Given the description of an element on the screen output the (x, y) to click on. 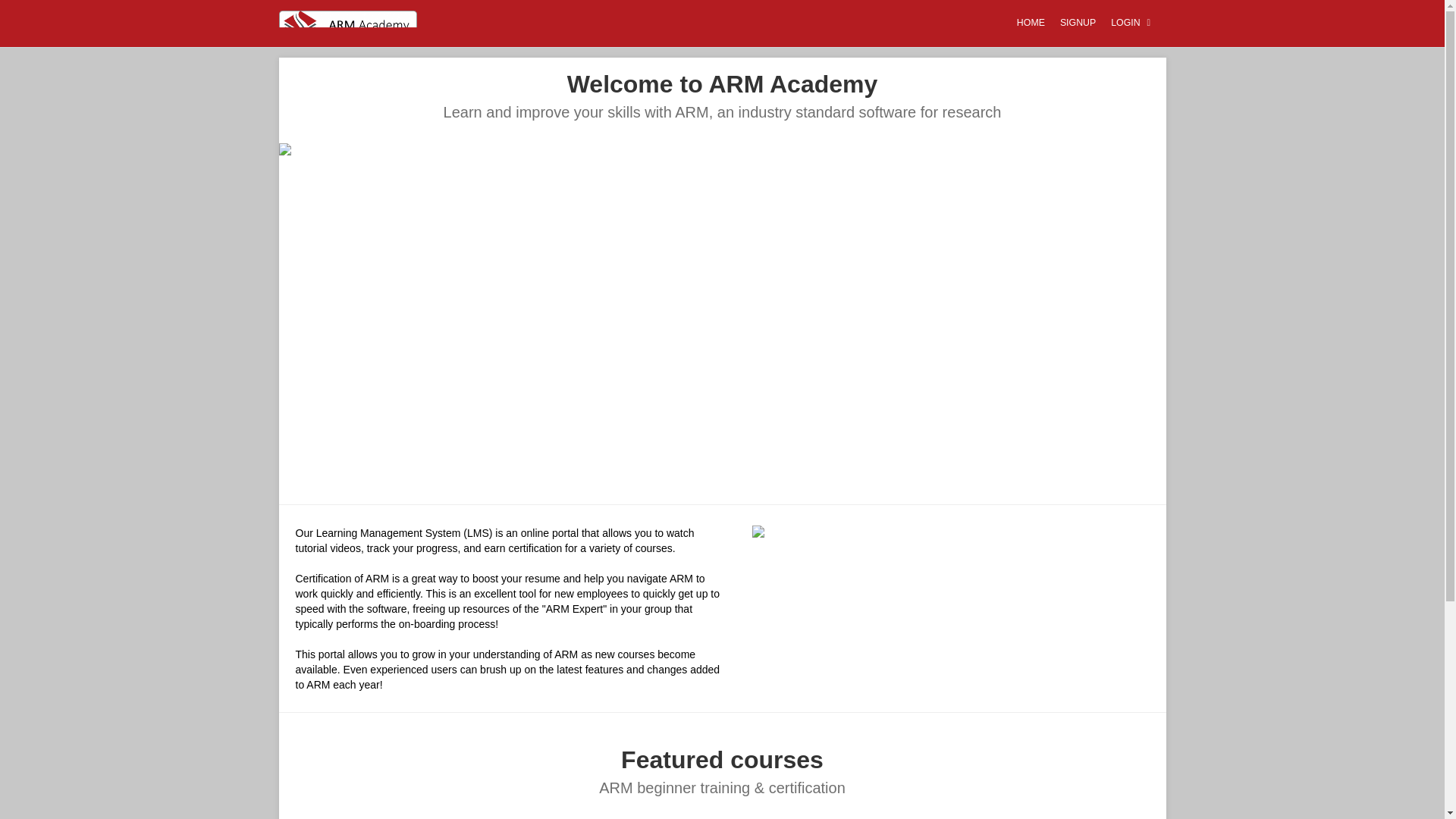
SIGNUP (1077, 23)
LOGIN  (1132, 23)
HOME (1030, 23)
